Given the description of an element on the screen output the (x, y) to click on. 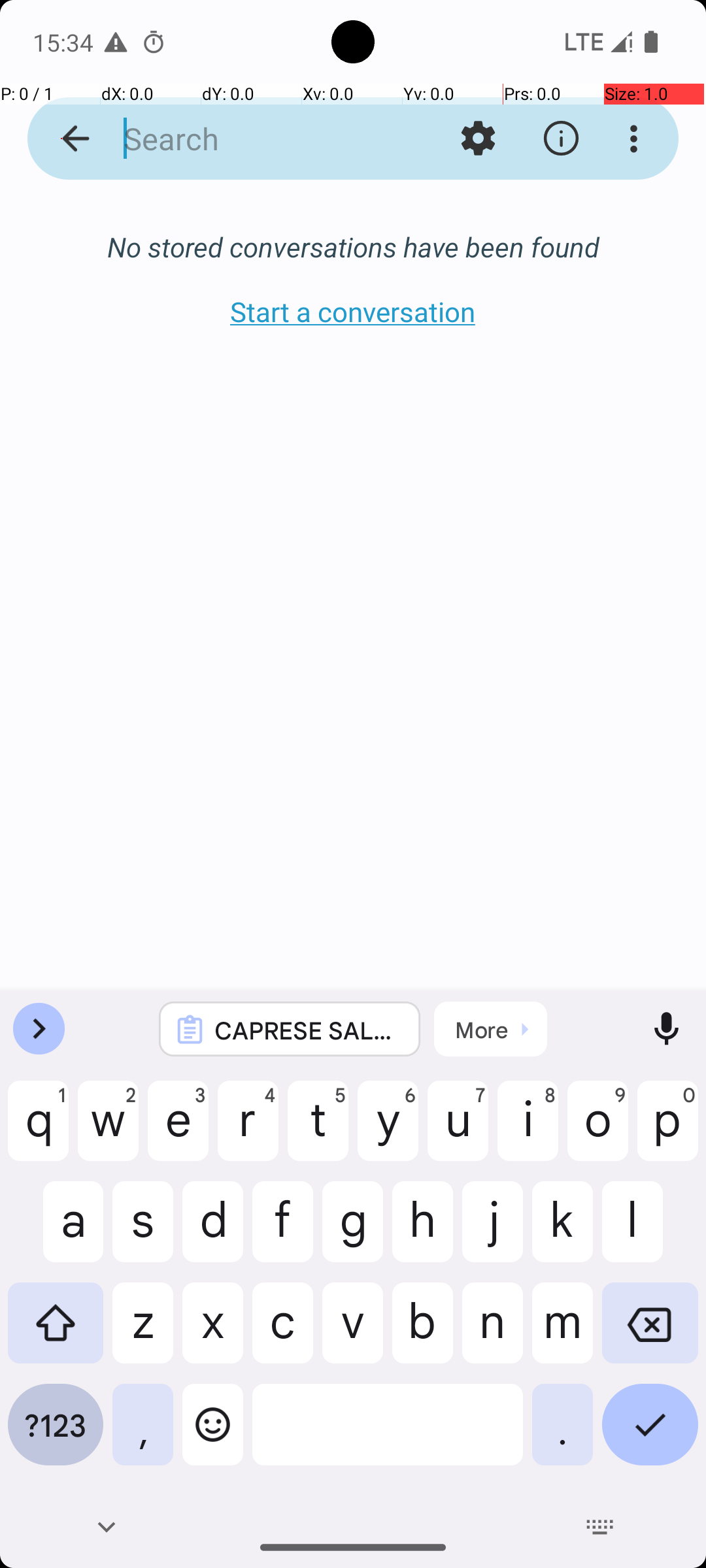
CAPRESE SALAD SKEWERS  Servings: 1 serving Time: 45 mins  A quick and easy meal, perfect for busy weekdays.  Ingredients: - n/a  Directions: 1. Thread cherry tomatoes, basil leaves, and mozzarella balls onto skewers. Drizzle with balsamic glaze. Feel free to substitute with ingredients you have on hand.  Shared with https://play.google.com/store/apps/details?id=com.flauschcode.broccoli Element type: android.widget.TextView (306, 1029)
